Given the description of an element on the screen output the (x, y) to click on. 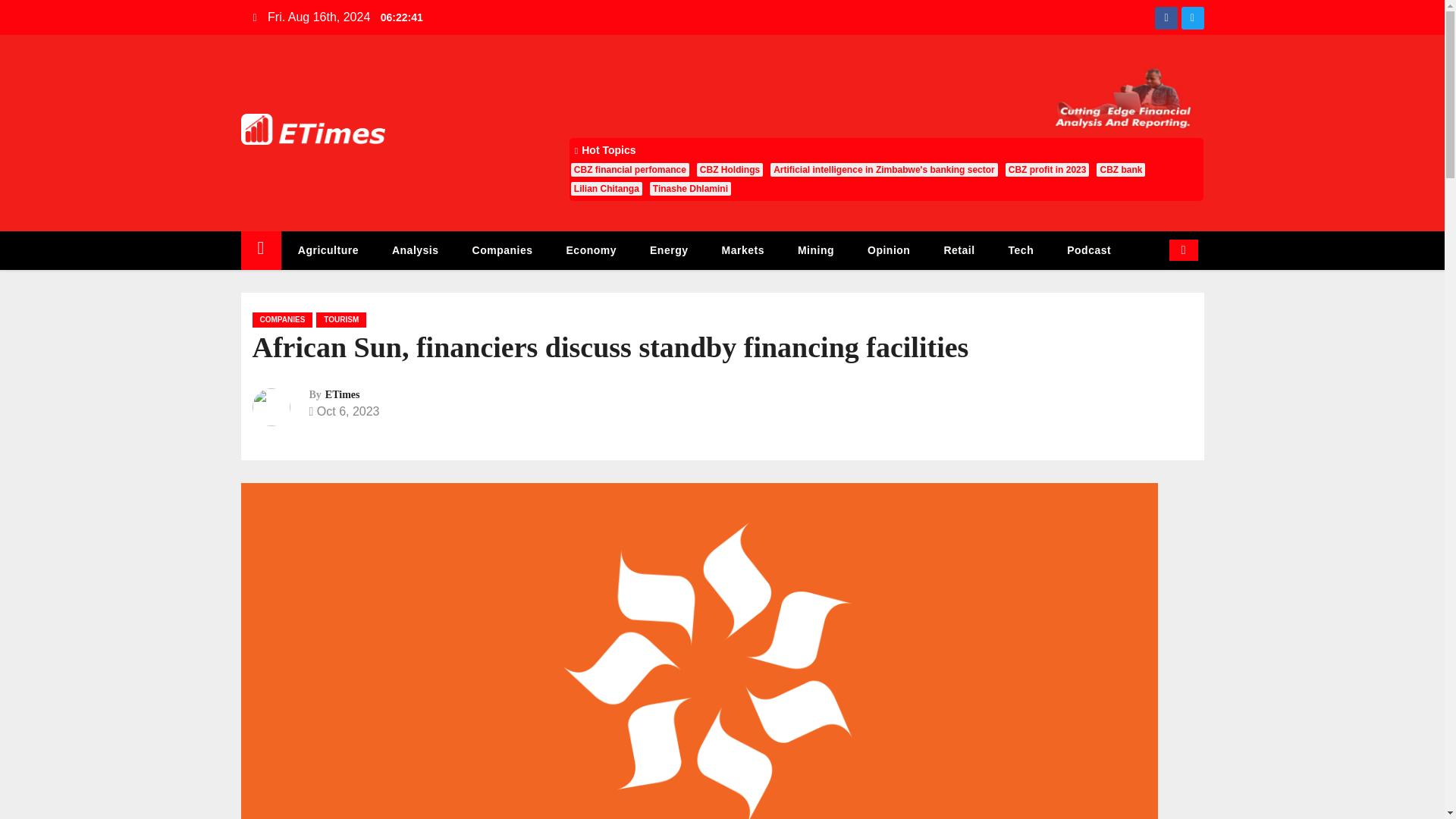
Companies (502, 250)
Markets (742, 250)
Economy (591, 250)
Agriculture (328, 250)
Tech (1021, 250)
Markets (742, 250)
TOURISM (340, 319)
Retail (958, 250)
CBZ bank (1120, 169)
Mining (815, 250)
